Given the description of an element on the screen output the (x, y) to click on. 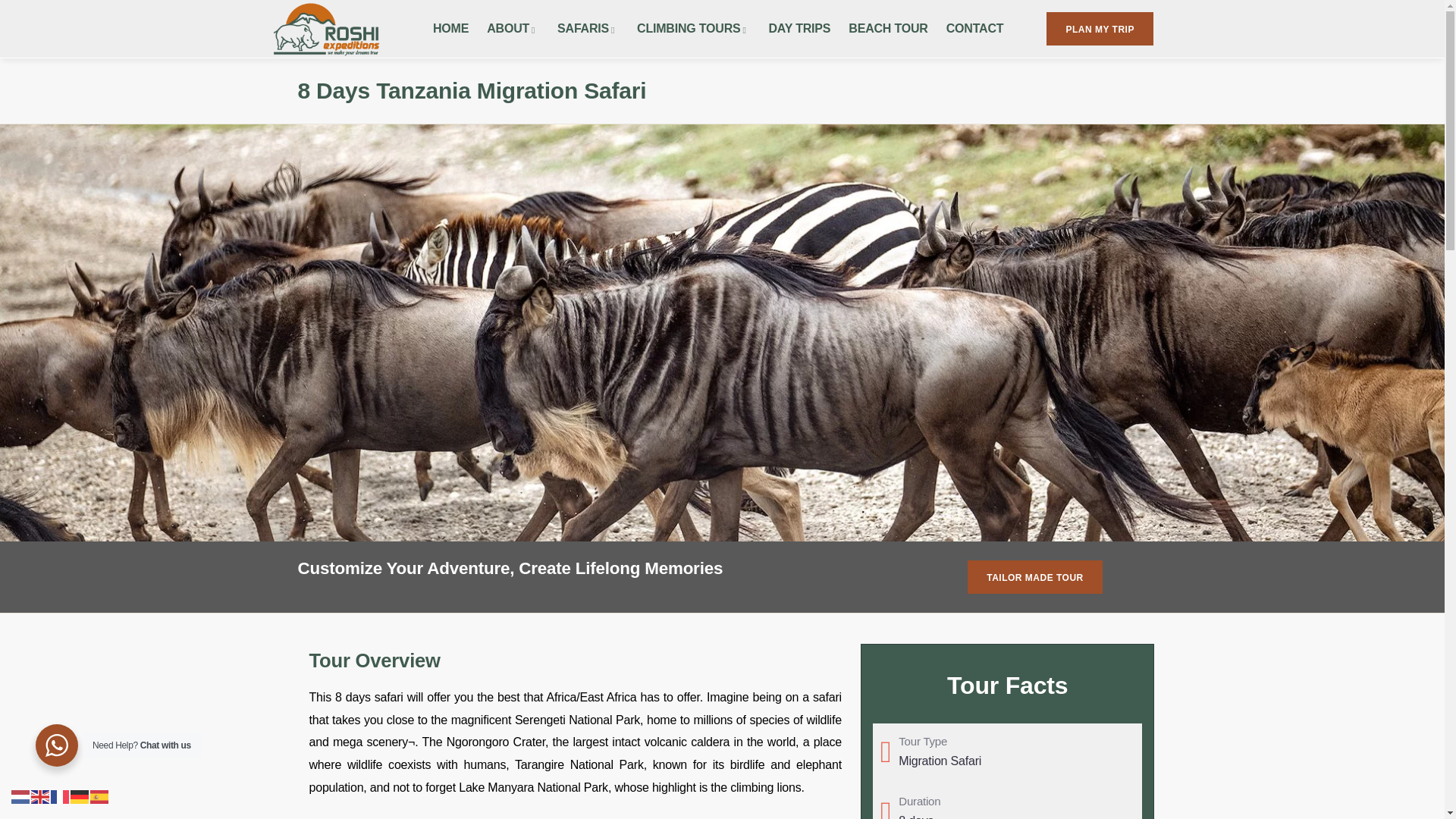
Home (324, 28)
Dutch (20, 795)
SAFARIS (587, 28)
French (59, 795)
ABOUT (512, 28)
English (40, 795)
HOME (450, 28)
